Given the description of an element on the screen output the (x, y) to click on. 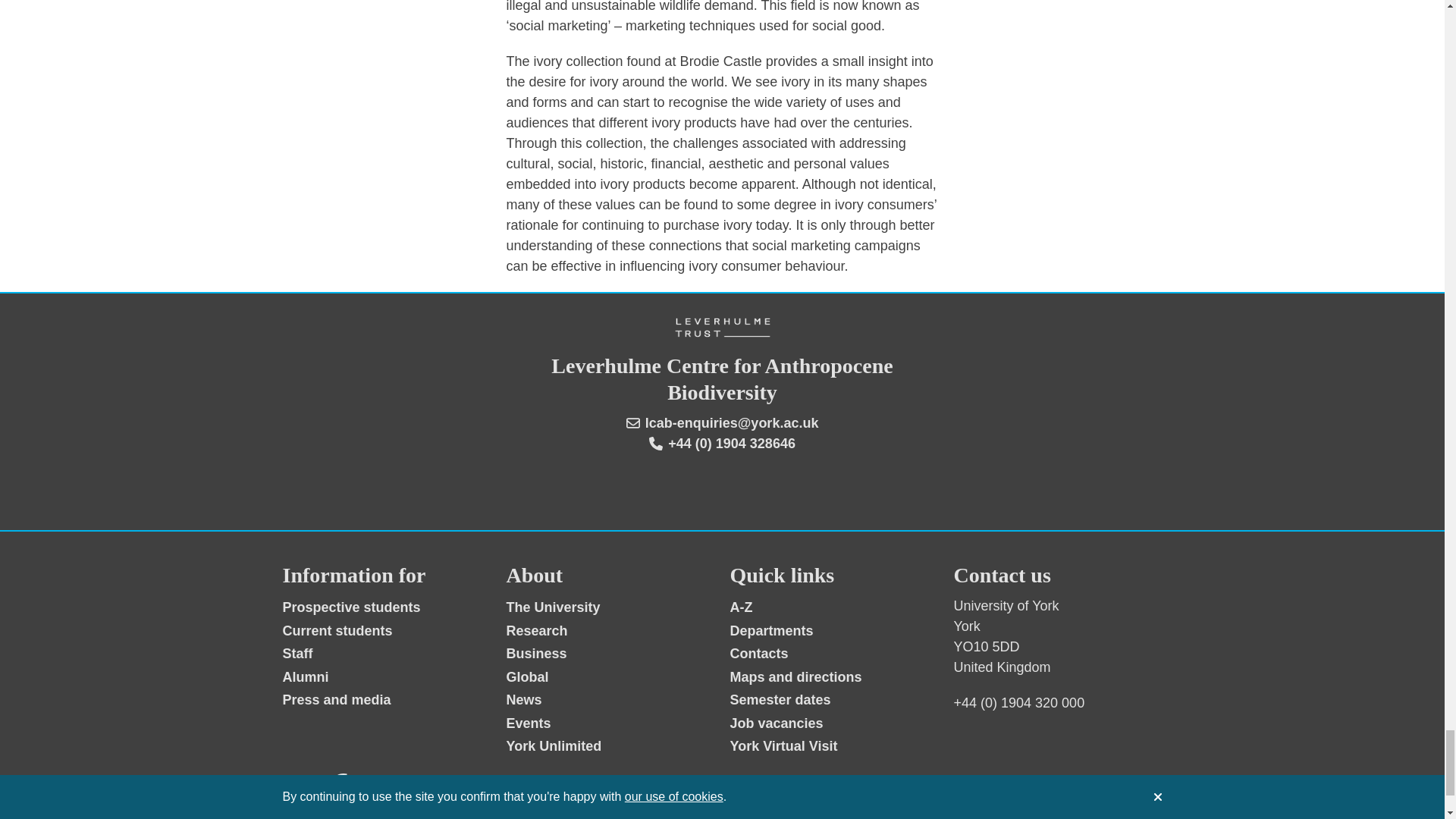
Follow us on Instagram (376, 786)
Follow us on X (299, 786)
Like us on Facebook (338, 786)
Watch our videos on YouTube (455, 786)
Follow us on LinkedIn (415, 786)
